Given the description of an element on the screen output the (x, y) to click on. 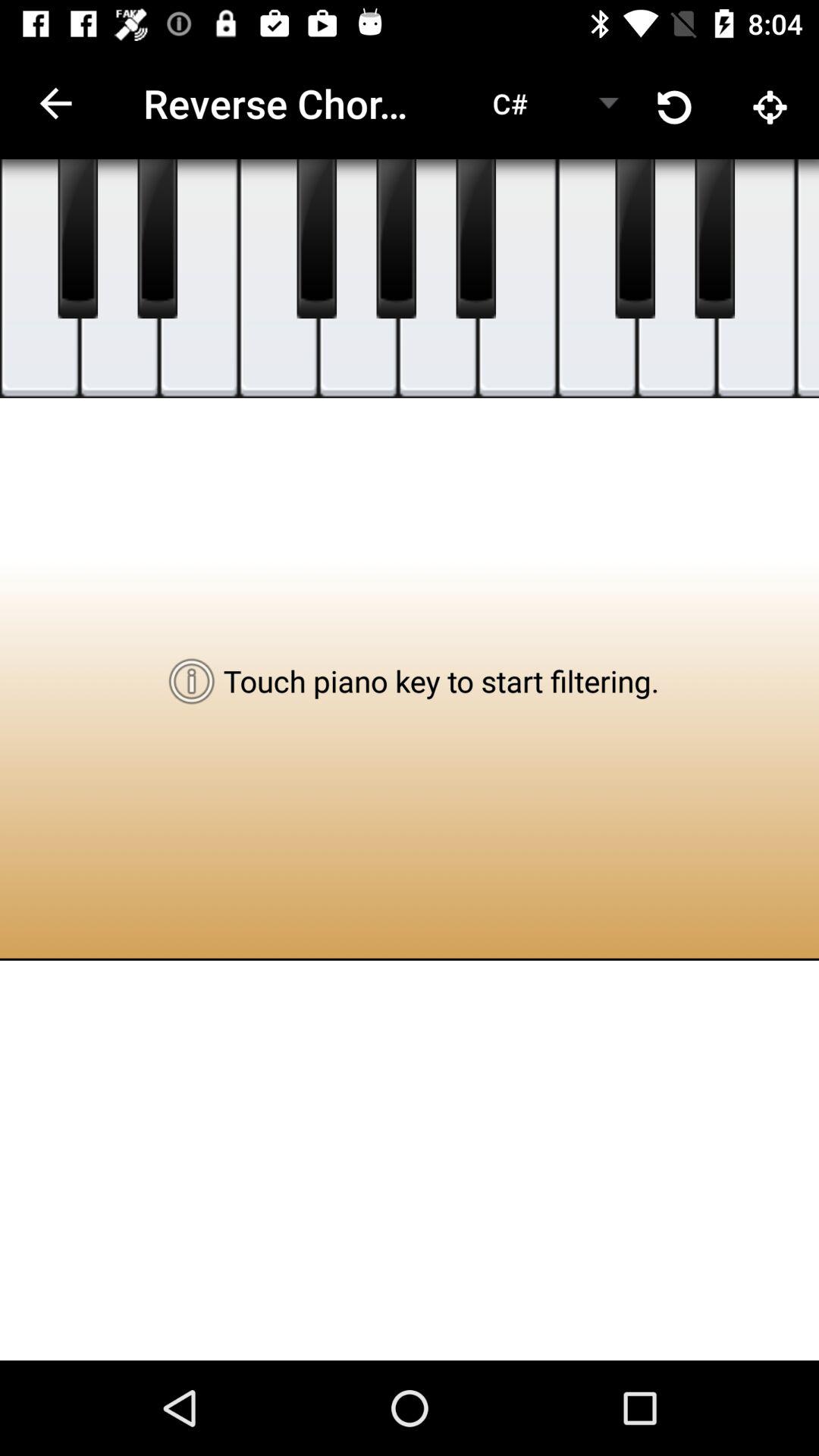
play c (517, 278)
